Given the description of an element on the screen output the (x, y) to click on. 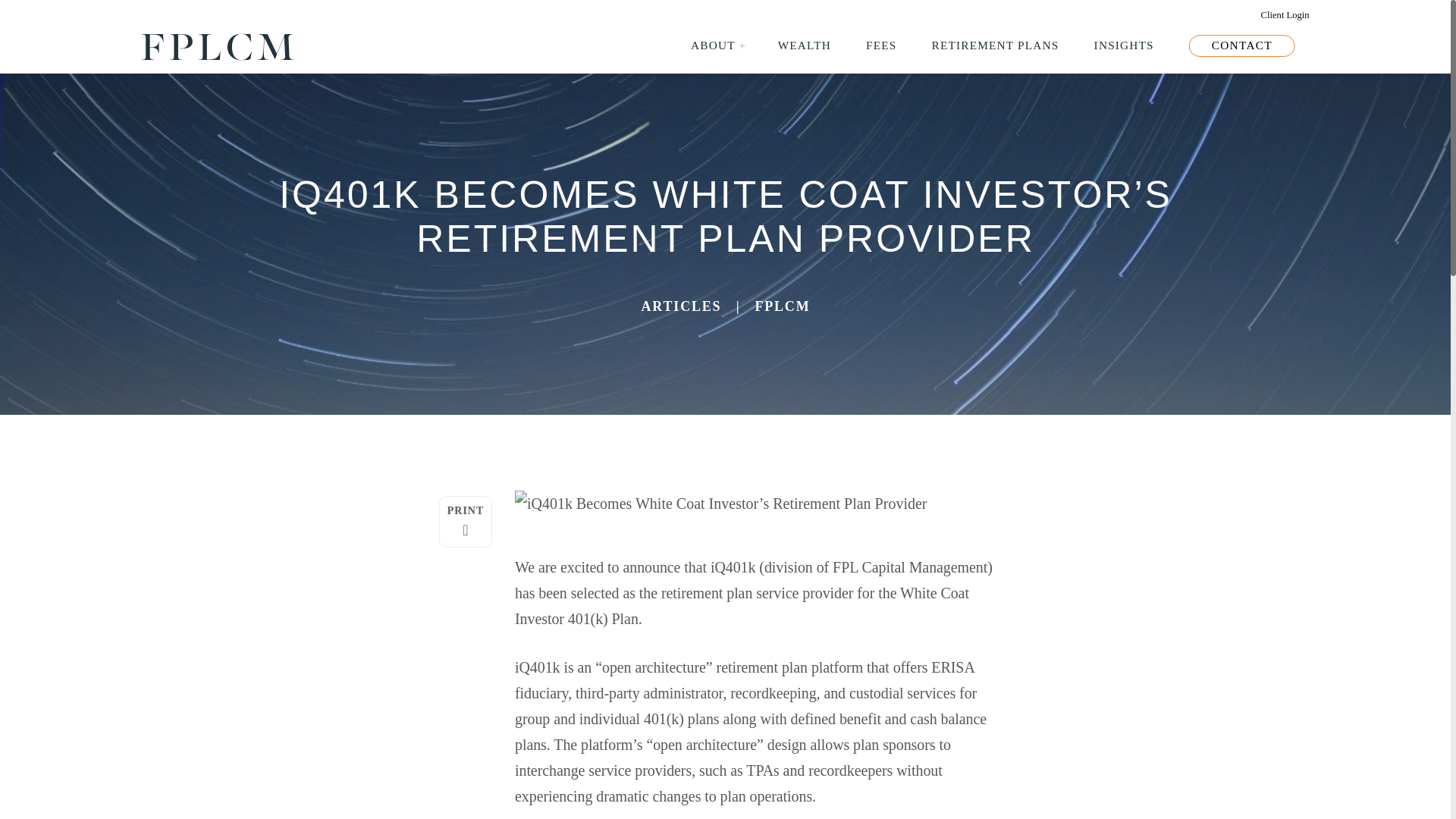
 Client Login (1285, 15)
ARTICLES (680, 305)
ABOUT (713, 46)
RETIREMENT PLANS (997, 46)
INSIGHTS (1124, 46)
Login (1285, 15)
PRINT (465, 521)
WEALTH (804, 46)
FEES (882, 46)
CONTACT (1243, 46)
